Given the description of an element on the screen output the (x, y) to click on. 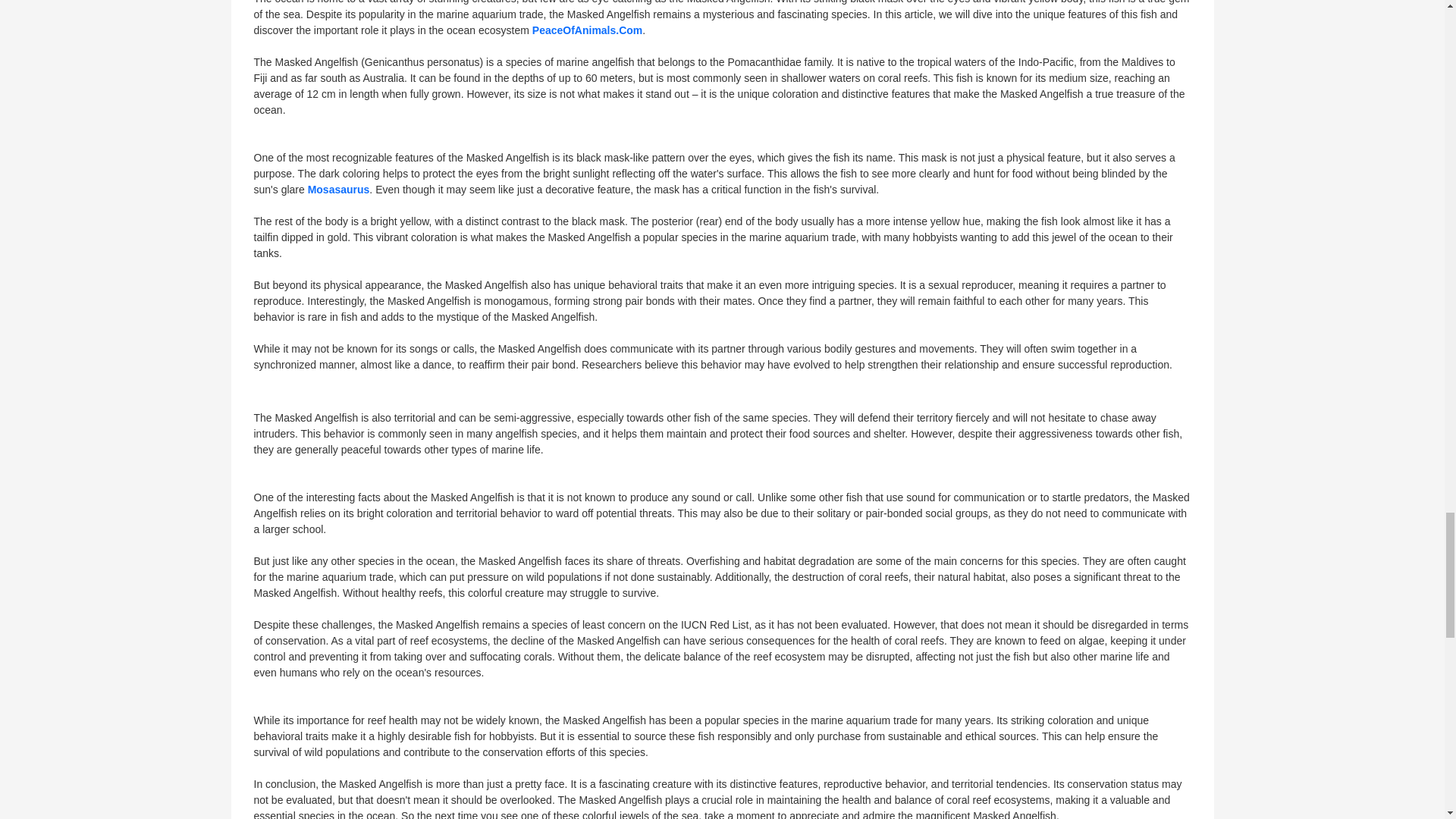
Mosasaurus (338, 189)
PeaceOfAnimals.Com (587, 30)
